Given the description of an element on the screen output the (x, y) to click on. 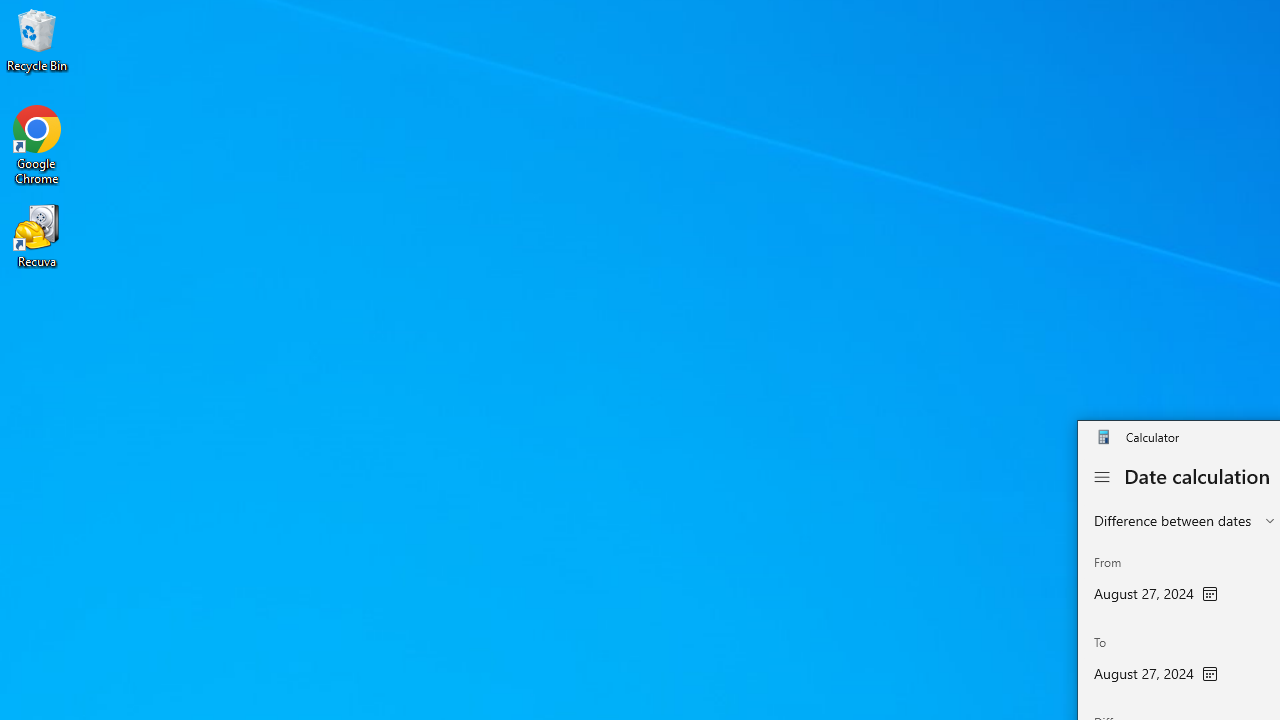
To (1155, 661)
Open Navigation (1101, 477)
From (1155, 581)
Difference between dates (1172, 520)
